Given the description of an element on the screen output the (x, y) to click on. 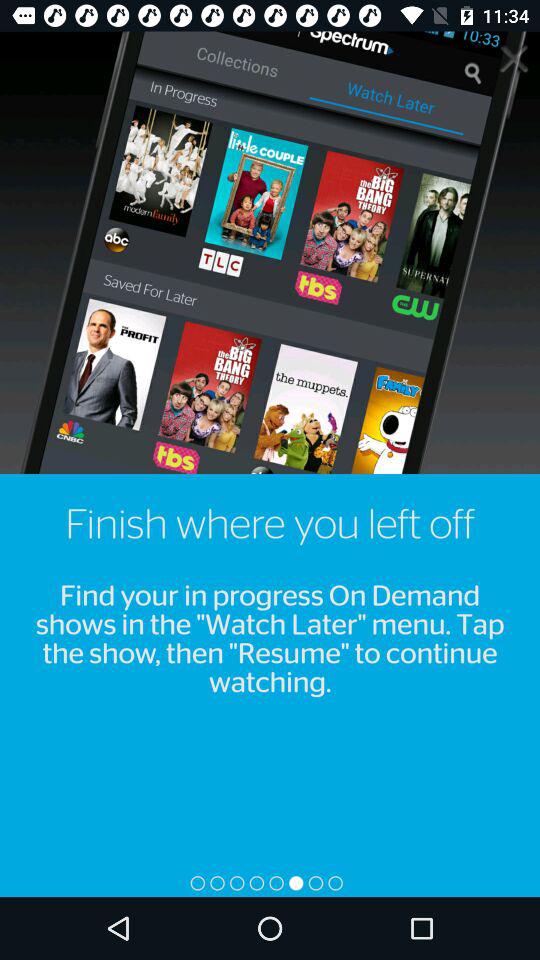
close it (513, 57)
